Given the description of an element on the screen output the (x, y) to click on. 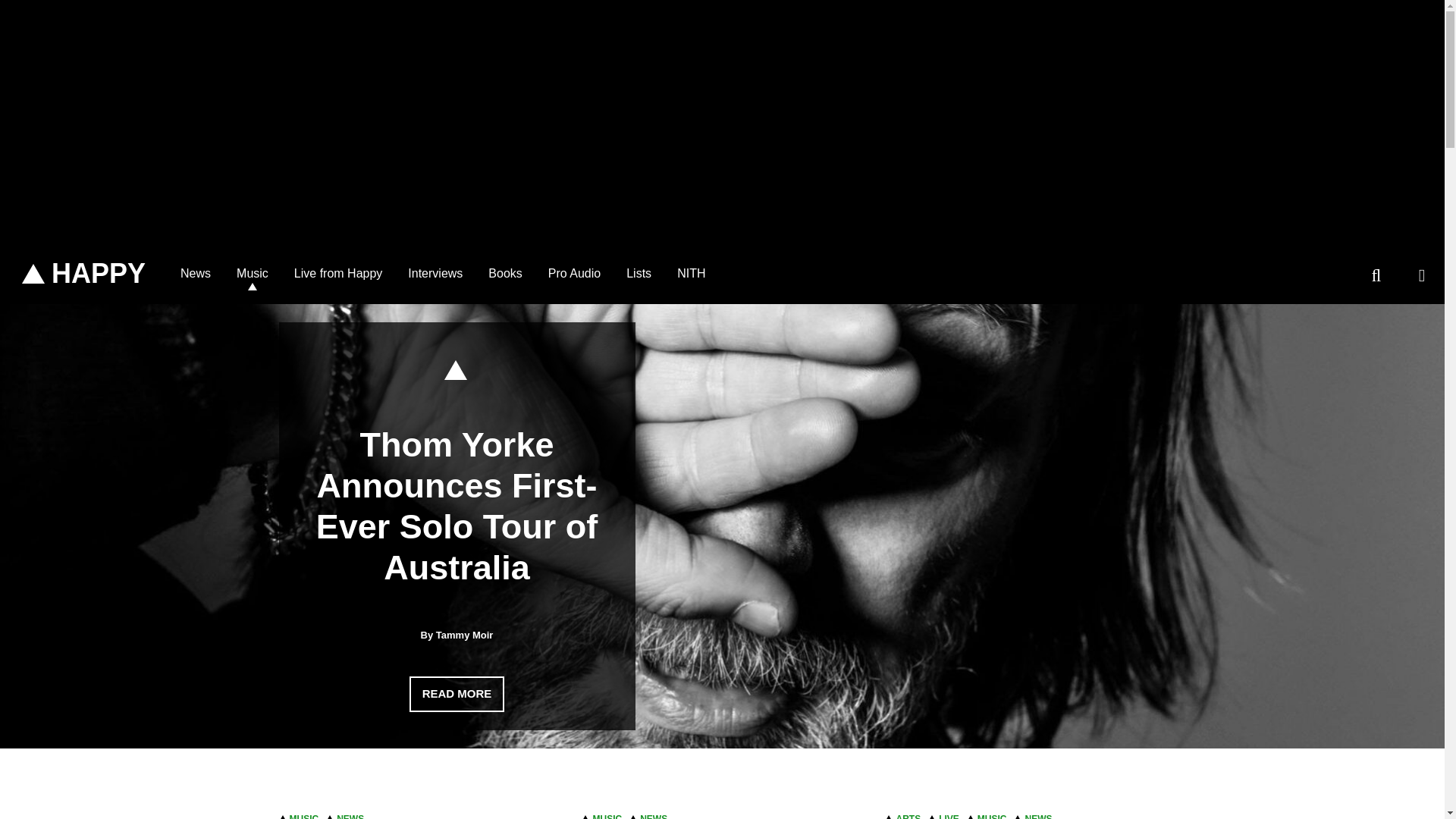
Thom Yorke Announces First-Ever Solo Tour of Australia (456, 506)
Lists (637, 273)
Music (252, 273)
Live from Happy (338, 273)
NITH (690, 273)
Pro Audio (573, 273)
NEWS (350, 813)
HAPPY (83, 273)
READ MORE (457, 693)
Interviews (435, 273)
MUSIC (303, 813)
News (195, 273)
Books (505, 273)
News (195, 273)
